Given the description of an element on the screen output the (x, y) to click on. 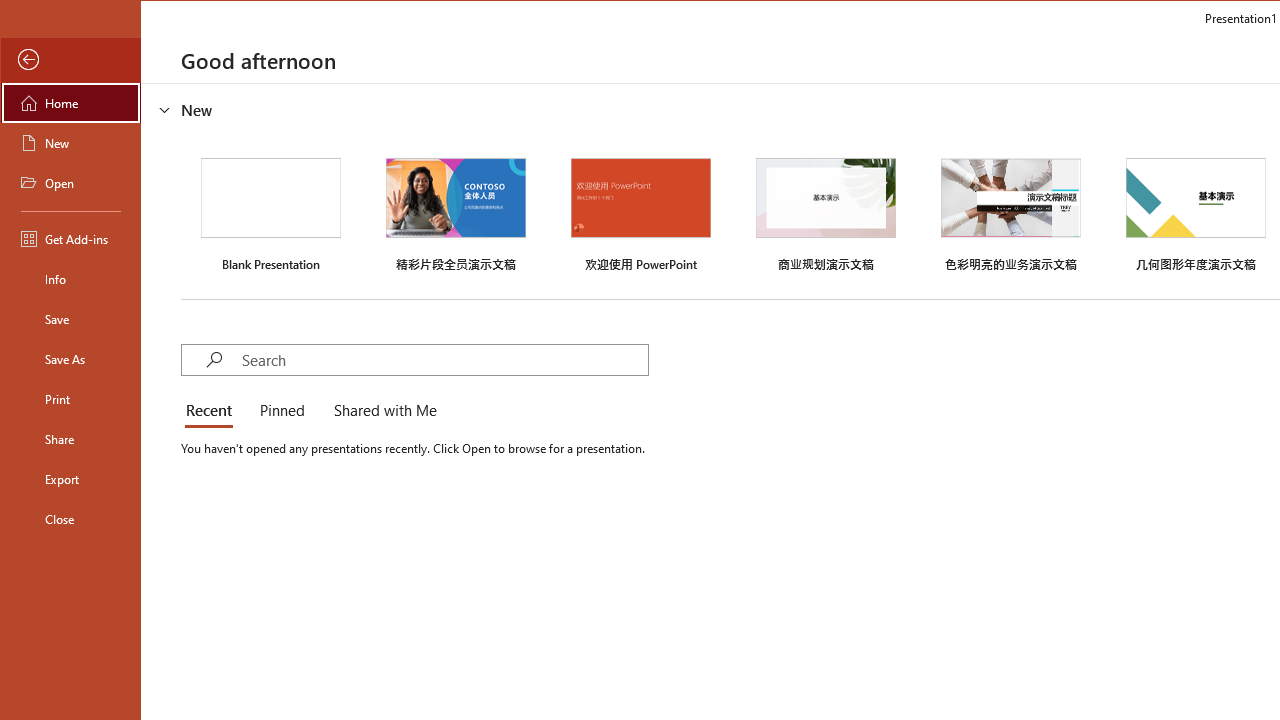
Hide or show region (164, 109)
Blank Presentation (270, 212)
Recent (212, 411)
